Given the description of an element on the screen output the (x, y) to click on. 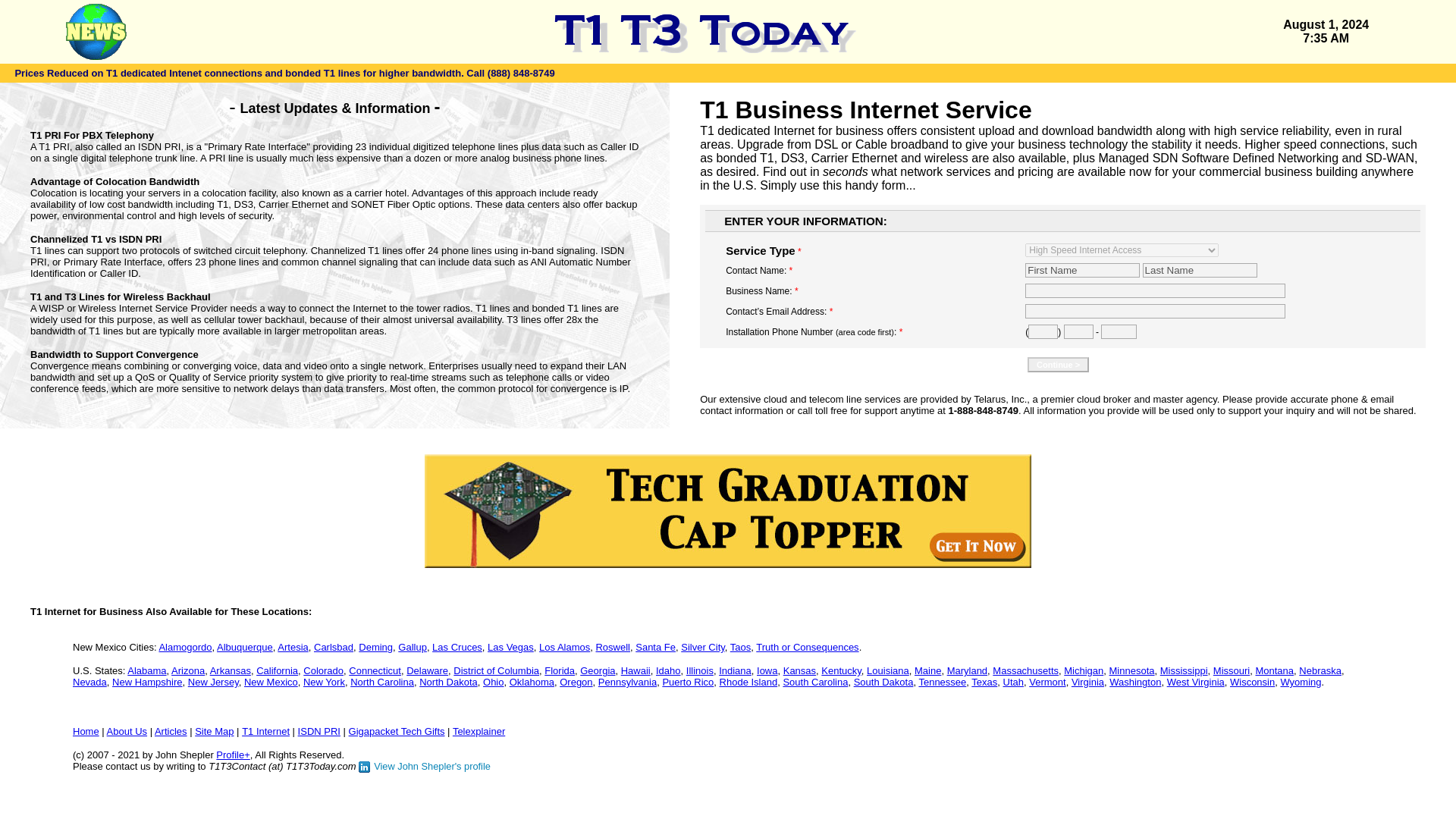
Colorado (322, 670)
Santa Fe (654, 646)
Hawaii (635, 670)
Albuquerque (244, 646)
Kansas (799, 670)
Connecticut (375, 670)
Truth or Consequences (807, 646)
Indiana (735, 670)
Los Alamos (563, 646)
Deming (375, 646)
Taos (740, 646)
Artesia (292, 646)
Illinois (699, 670)
Carlsbad (333, 646)
Iowa (767, 670)
